Given the description of an element on the screen output the (x, y) to click on. 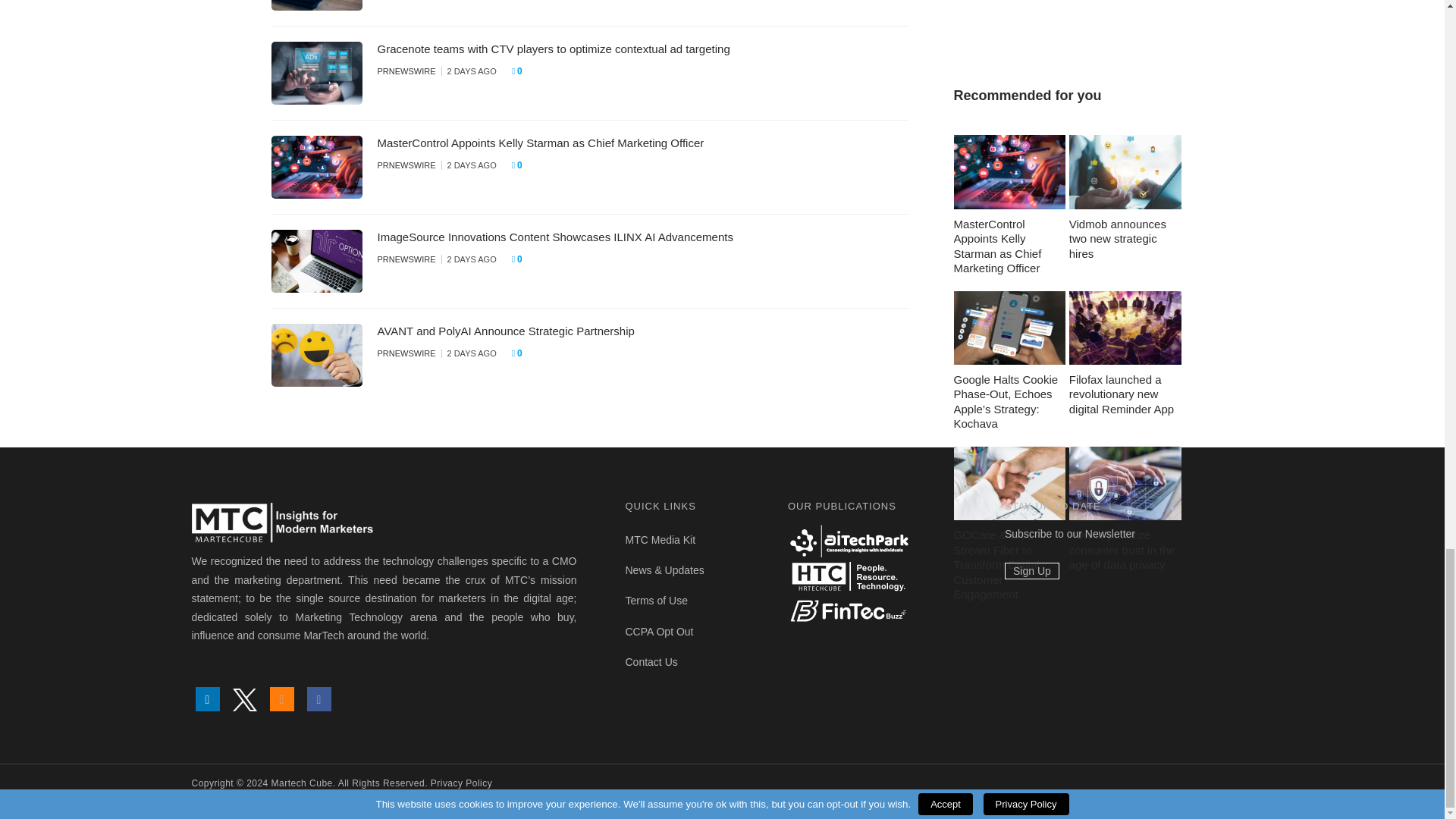
View all posts by PRNewswire (406, 258)
Comments (521, 71)
View all posts by PRNewswire (406, 71)
Comments (521, 259)
View all posts by PRNewswire (406, 164)
Comments (521, 165)
